Given the description of an element on the screen output the (x, y) to click on. 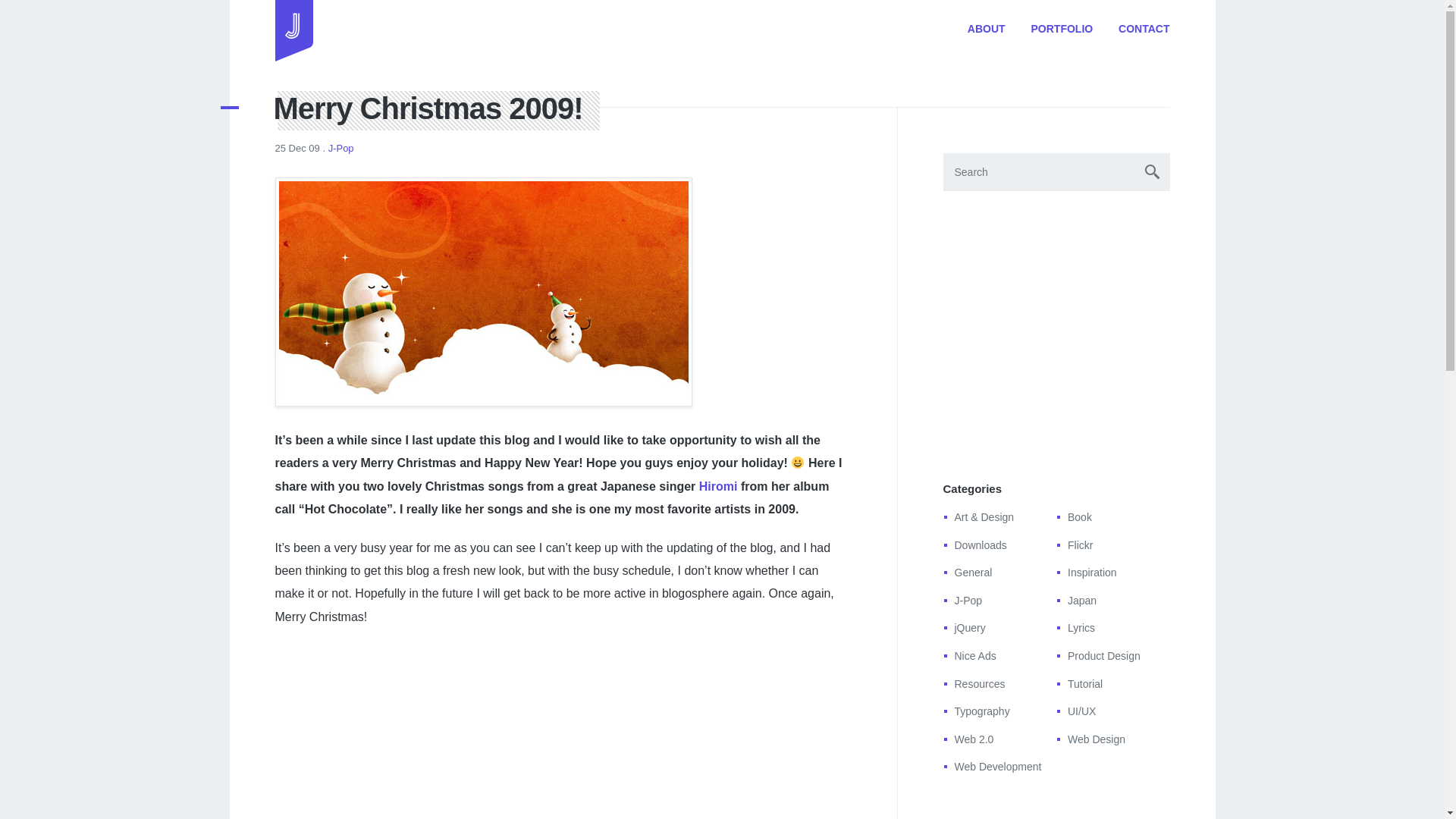
Advertisement (1056, 330)
Web 2.0 (972, 739)
Flickr (1080, 544)
Typography (981, 711)
Downloads (979, 544)
ABOUT (987, 28)
Lyrics (1080, 627)
Product Design (1103, 655)
Japan (1081, 600)
Resources (978, 684)
